Given the description of an element on the screen output the (x, y) to click on. 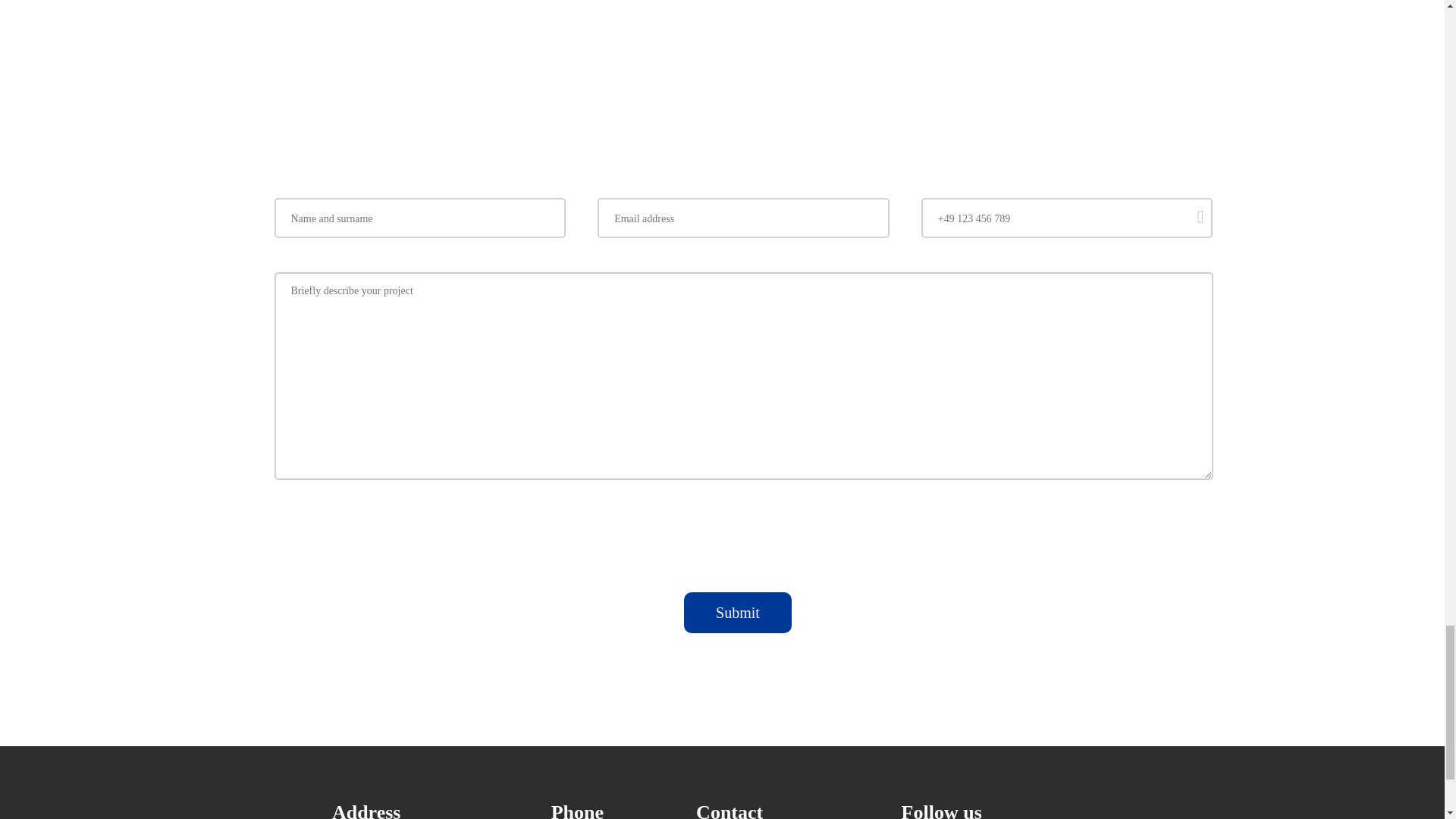
Submit (738, 612)
Submit (738, 612)
Privacy Policy (780, 519)
Information Clause (691, 519)
